Given the description of an element on the screen output the (x, y) to click on. 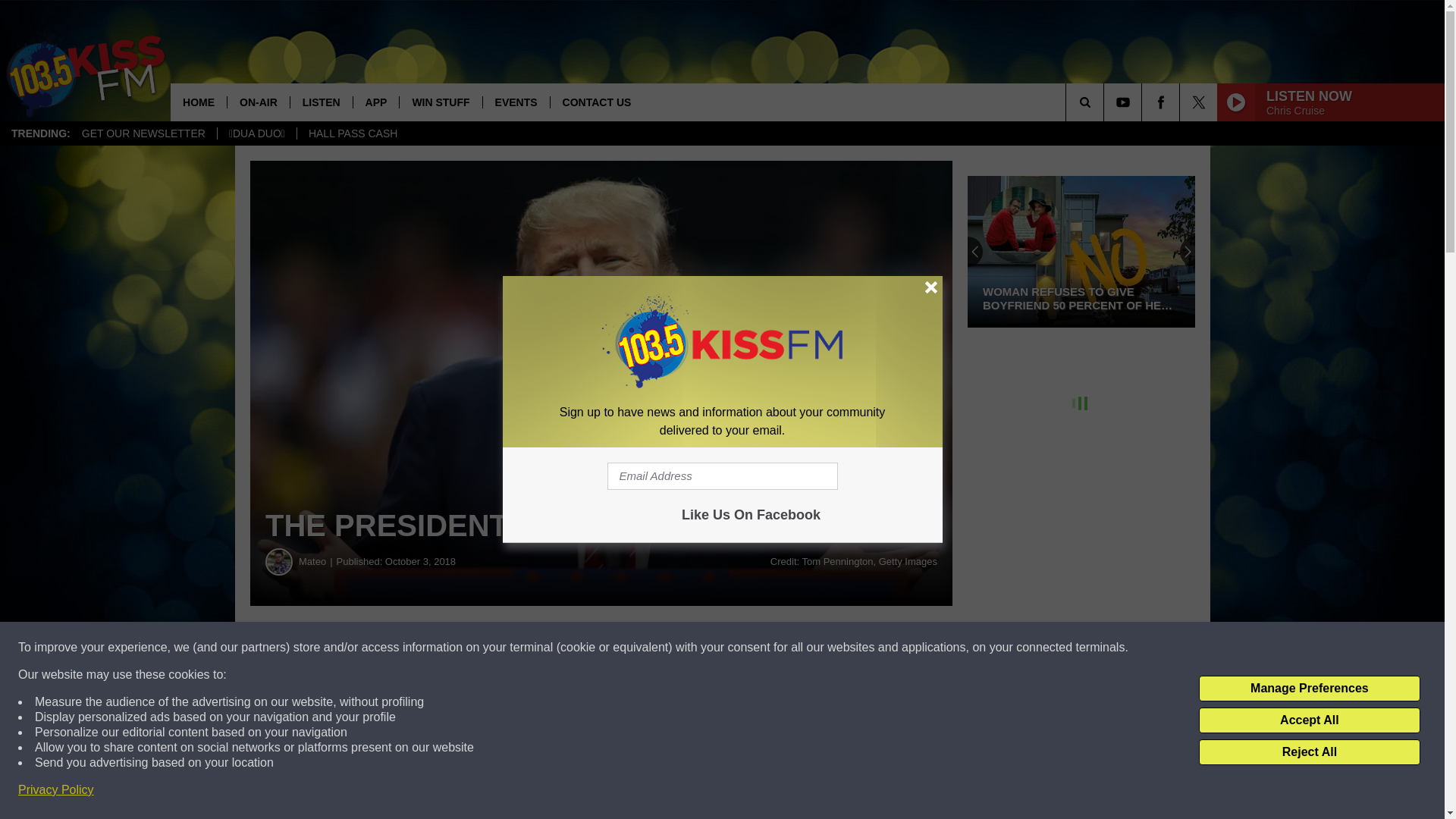
WIN STUFF (439, 102)
Manage Preferences (1309, 688)
ON-AIR (258, 102)
APP (375, 102)
SEARCH (1106, 102)
Reject All (1309, 751)
LISTEN (320, 102)
Share on Twitter (741, 647)
GET OUR NEWSLETTER (142, 133)
Accept All (1309, 720)
HALL PASS CASH (353, 133)
Privacy Policy (55, 789)
CONTACT US (596, 102)
EVENTS (515, 102)
SEARCH (1106, 102)
